Given the description of an element on the screen output the (x, y) to click on. 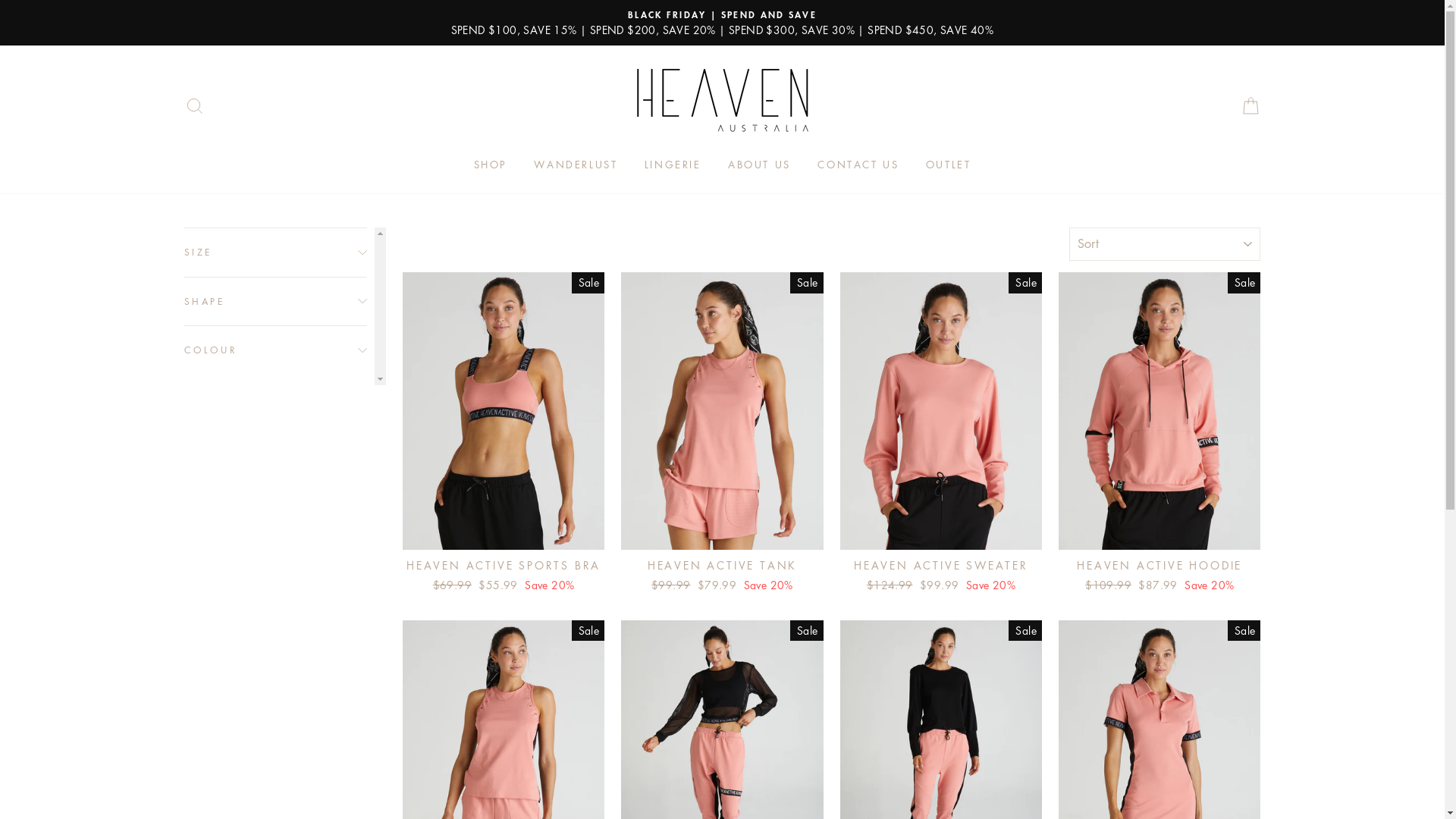
CART Element type: text (1249, 105)
SEARCH Element type: text (193, 105)
WANDERLUST Element type: text (575, 164)
SHOP Element type: text (490, 164)
CONTACT US Element type: text (858, 164)
OUTLET Element type: text (948, 164)
LINGERIE Element type: text (672, 164)
Skip to content Element type: text (0, 0)
COLOUR Element type: text (274, 349)
ABOUT US Element type: text (759, 164)
SIZE Element type: text (274, 252)
SHAPE Element type: text (274, 301)
